Given the description of an element on the screen output the (x, y) to click on. 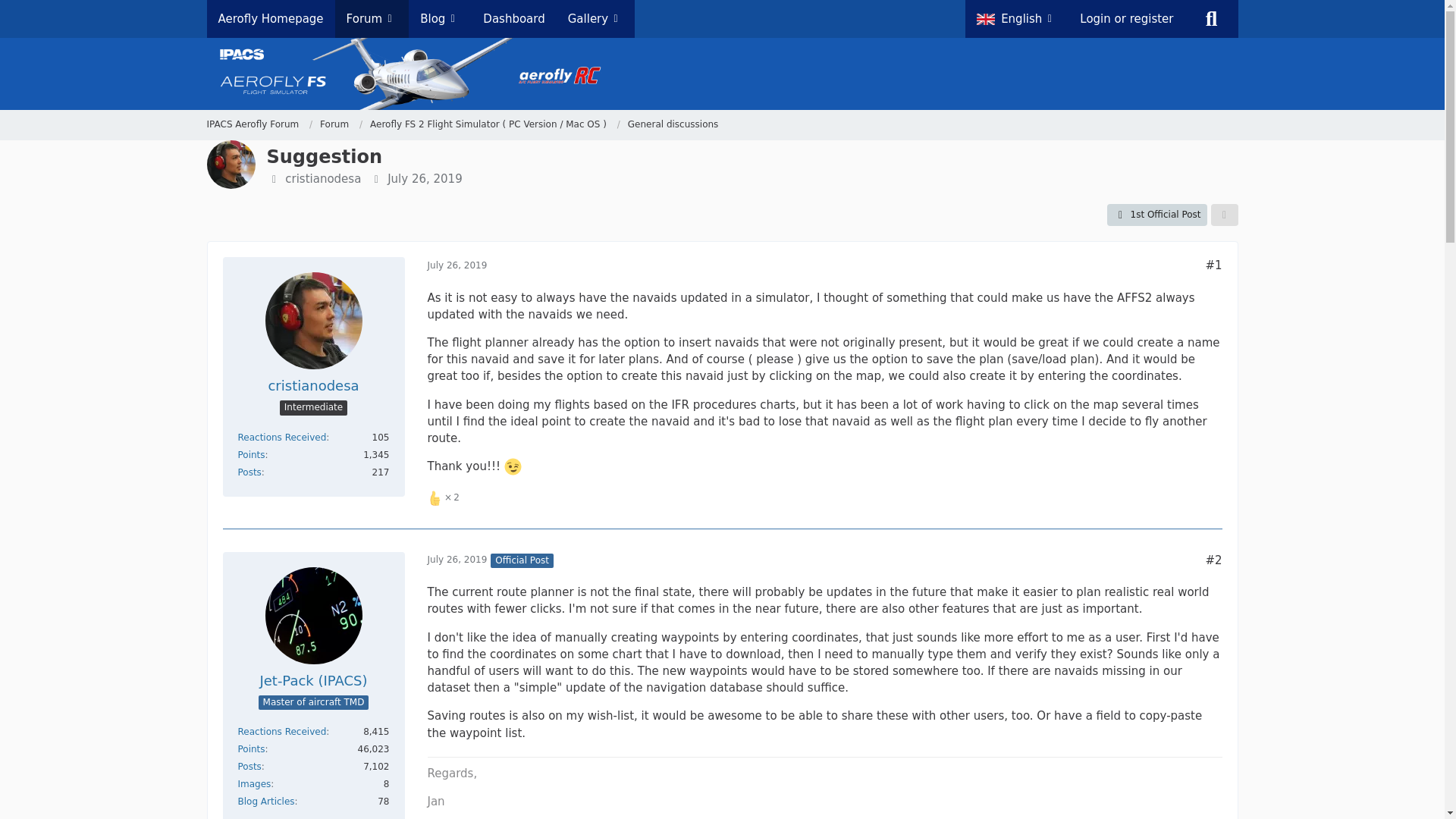
2 (444, 498)
Points (251, 454)
Aerofly Homepage (270, 18)
IPACS Aerofly Forum (252, 124)
Posts (250, 471)
cristianodesa (323, 178)
IPACS Aerofly Forum (259, 124)
cristianodesa (312, 384)
